Given the description of an element on the screen output the (x, y) to click on. 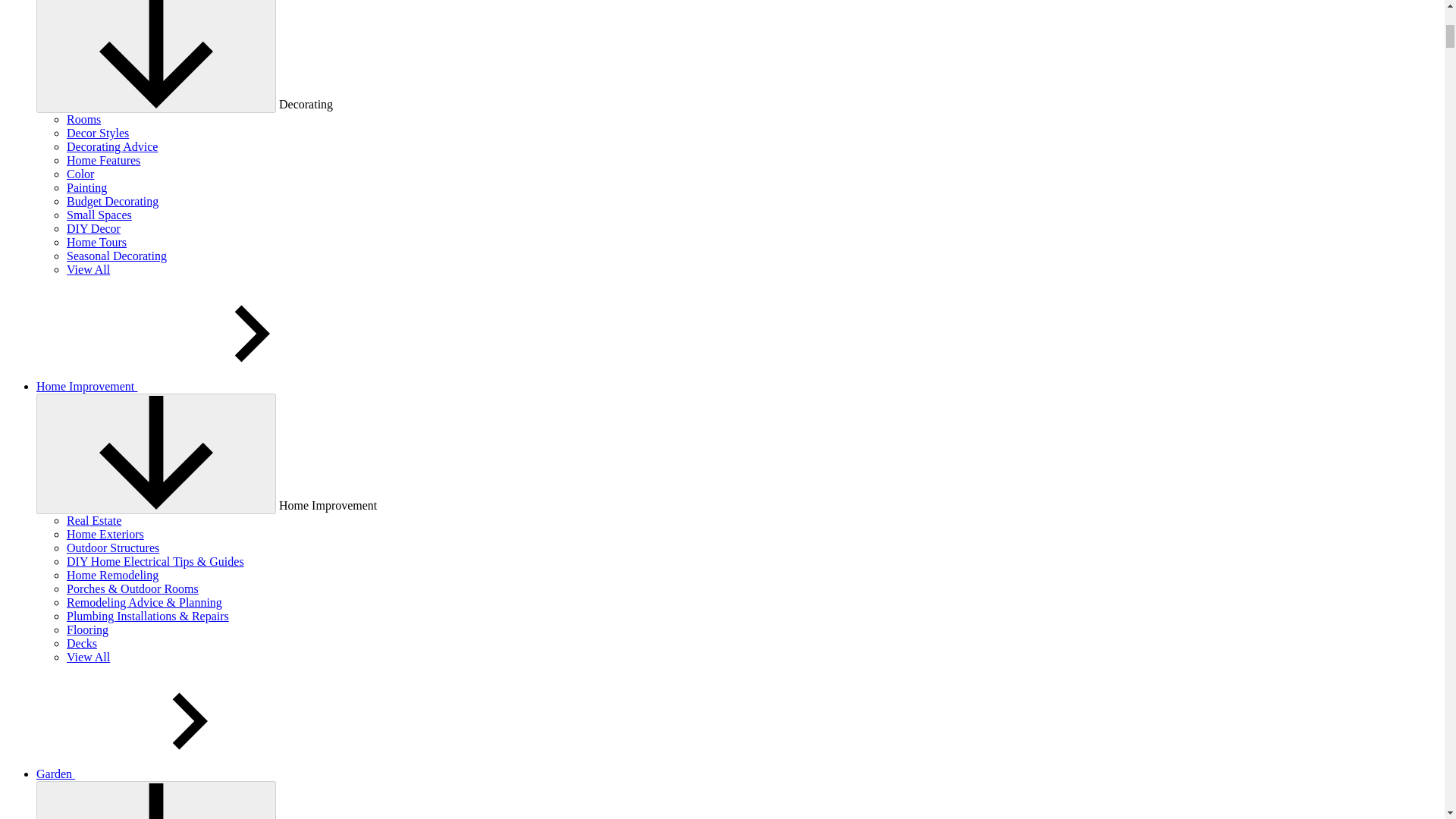
Rooms (83, 119)
View All (88, 269)
Budget Decorating (112, 201)
Seasonal Decorating (116, 255)
Home Features (102, 160)
Decorating Advice (111, 146)
Home Tours (96, 241)
Real Estate (93, 520)
Home Exteriors (105, 533)
Home Improvement (200, 386)
Outdoor Structures (112, 547)
Color (80, 173)
Decor Styles (97, 132)
Painting (86, 187)
Small Spaces (99, 214)
